Given the description of an element on the screen output the (x, y) to click on. 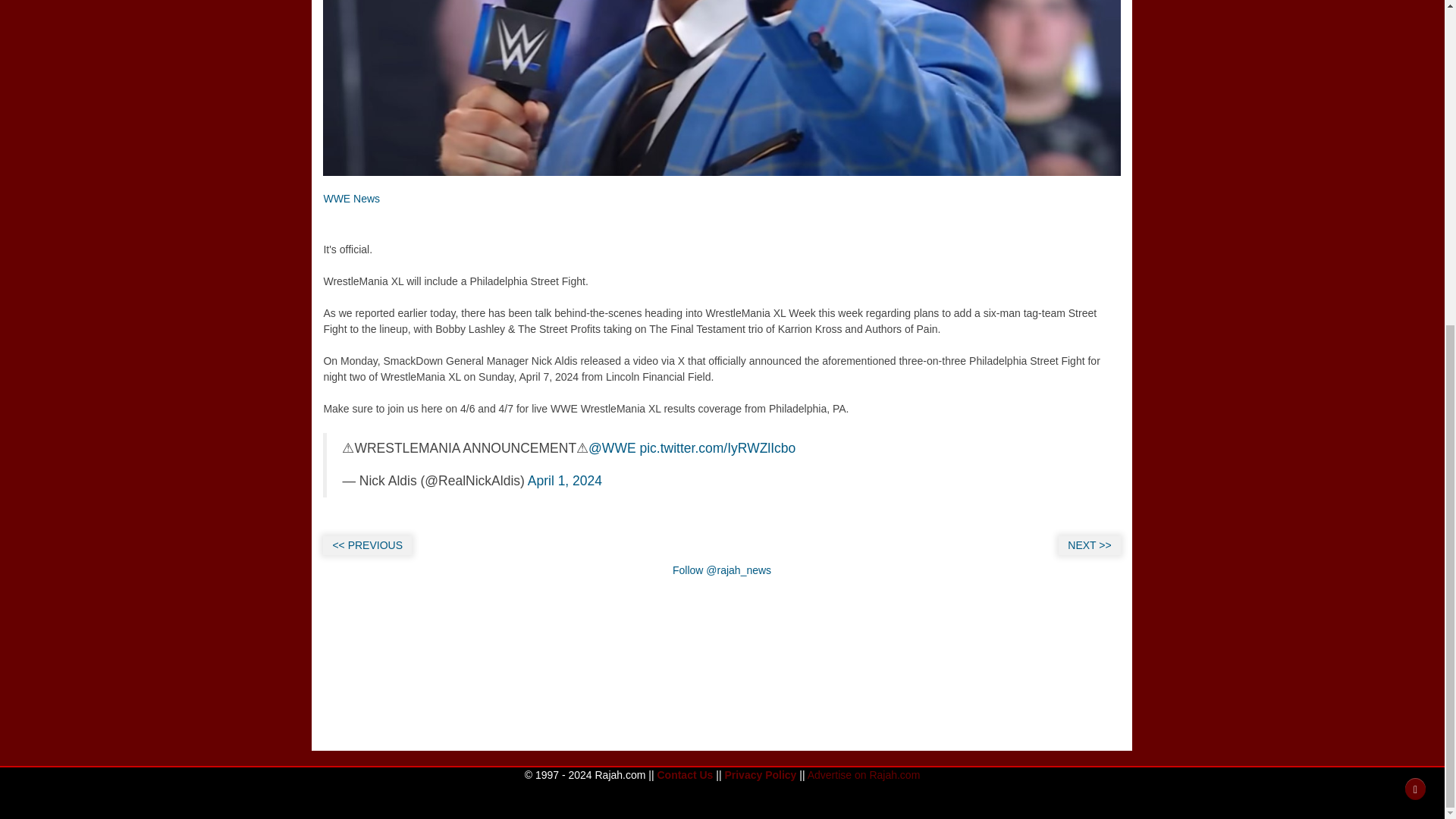
Contact Us (686, 775)
Twitter Follow Button (682, 798)
April 1, 2024 (564, 480)
WWE News (351, 198)
Back to Top (1415, 256)
